Given the description of an element on the screen output the (x, y) to click on. 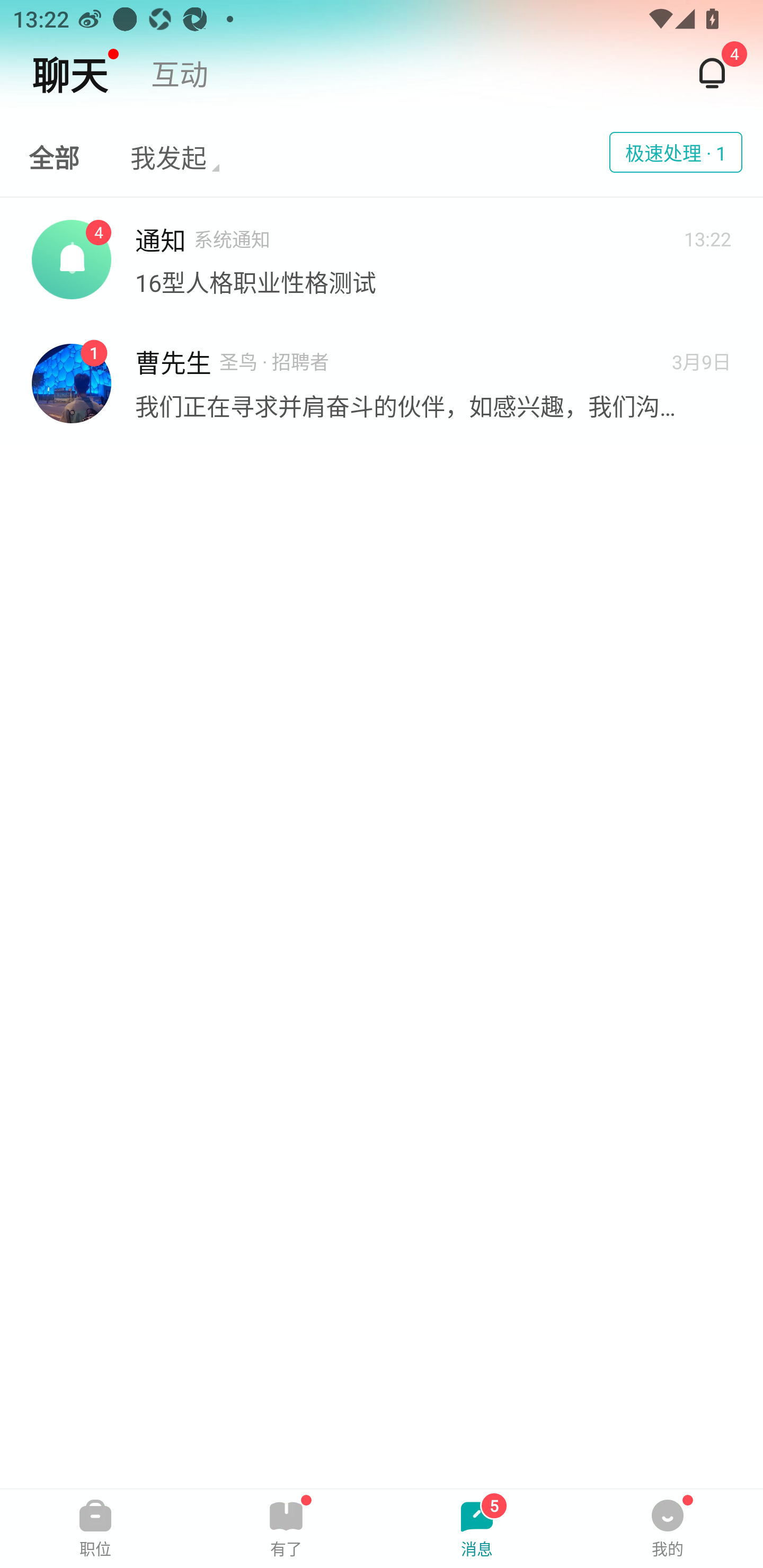
4 (711, 72)
聊天 (75, 72)
互动 (179, 72)
全部 (53, 152)
我发起 (174, 152)
极速处理 · 1 (675, 151)
4 通知 系统通知 13:22 16型人格职业性格测试 (381, 259)
曹先生 圣鸟 · 招聘者 3月9日 我们正在寻求并肩奋斗的伙伴，如感兴趣，我们沟通一下。 (381, 383)
职位 (95, 1528)
有了 (285, 1528)
消息 (476, 1528)
我的 (667, 1528)
